Given the description of an element on the screen output the (x, y) to click on. 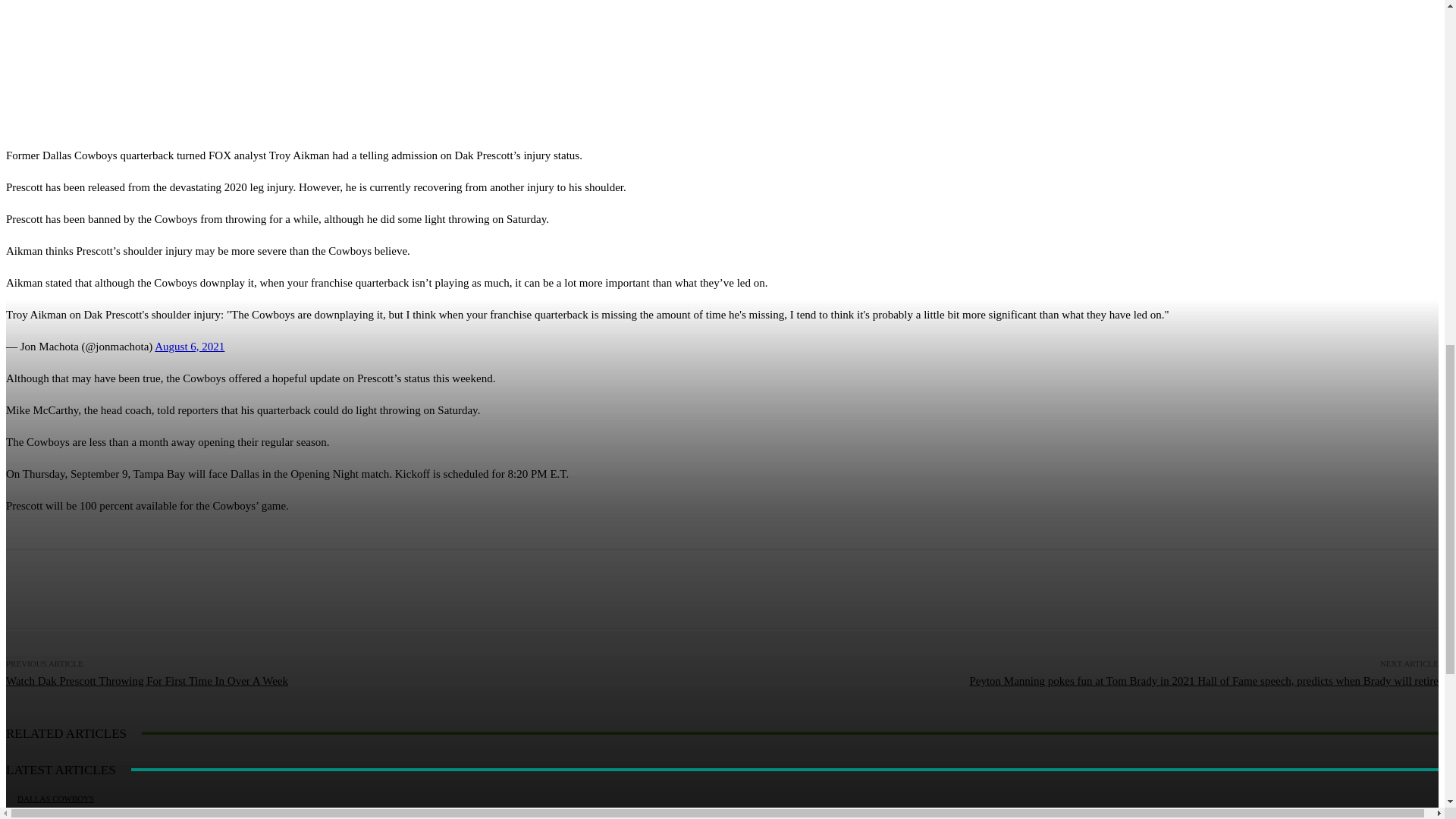
August 6, 2021 (189, 346)
Watch Dak Prescott Throwing For First Time In Over A Week (146, 680)
